Given the description of an element on the screen output the (x, y) to click on. 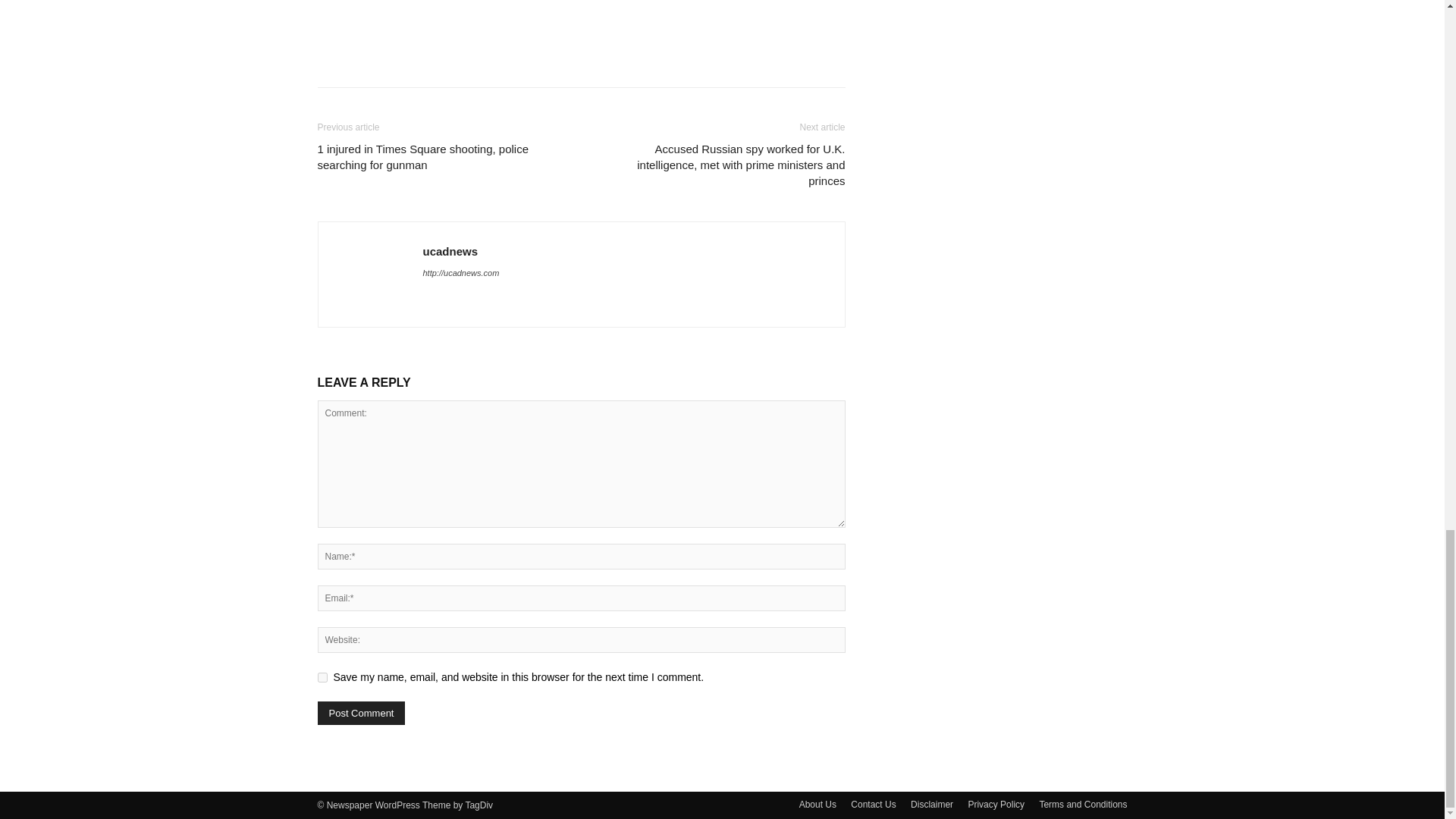
Post Comment (360, 712)
yes (321, 677)
bottomFacebookLike (430, 22)
